Given the description of an element on the screen output the (x, y) to click on. 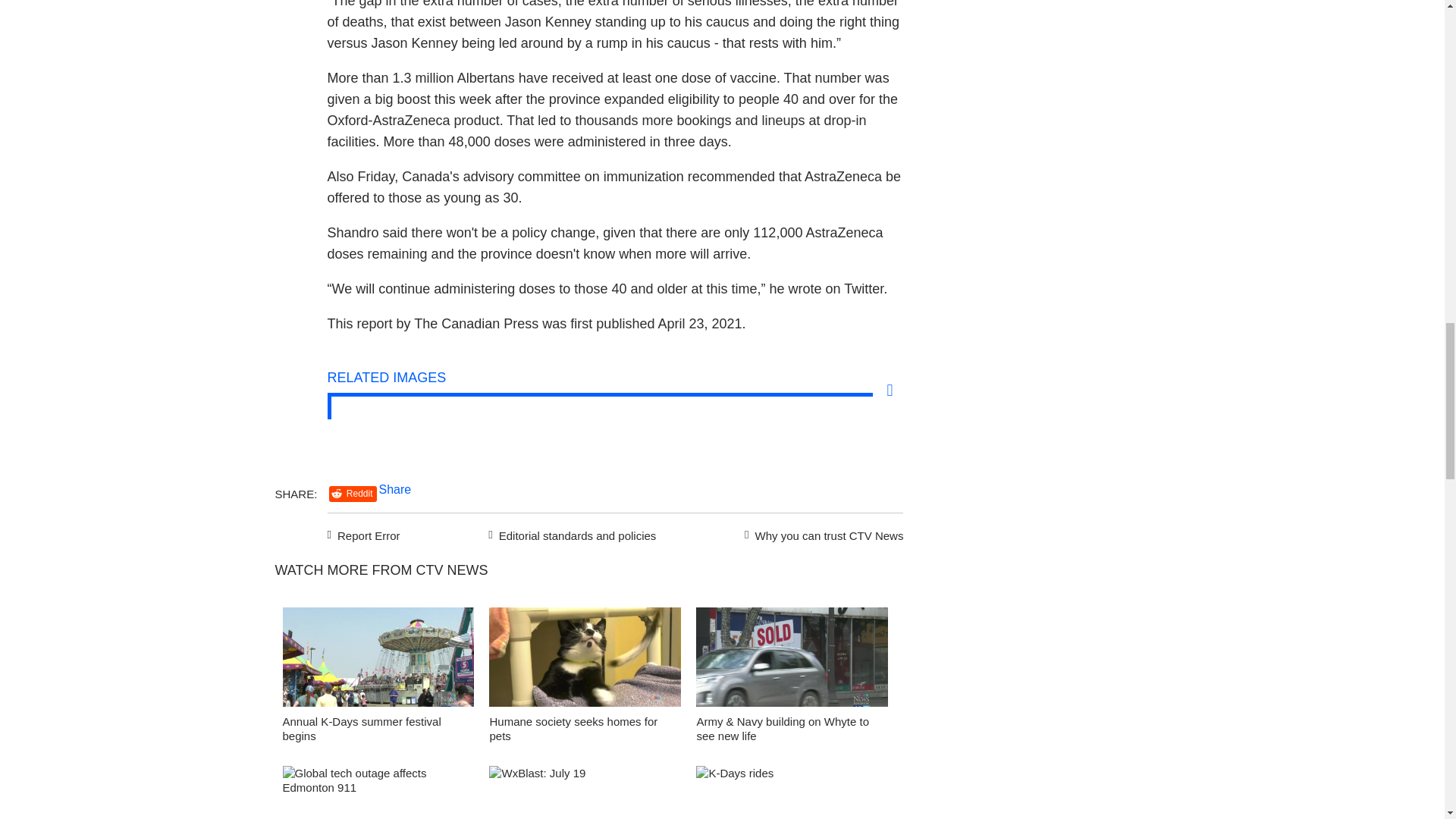
Reddit (353, 494)
false (791, 656)
false (791, 792)
Share (395, 489)
Humane society seeks homes for pets (573, 728)
false (585, 656)
Report Error (363, 533)
Why you can trust CTV News (820, 533)
false (378, 656)
Editorial standards and policies (569, 533)
Annual K-Days summer festival begins (361, 728)
false (378, 792)
false (585, 792)
